Given the description of an element on the screen output the (x, y) to click on. 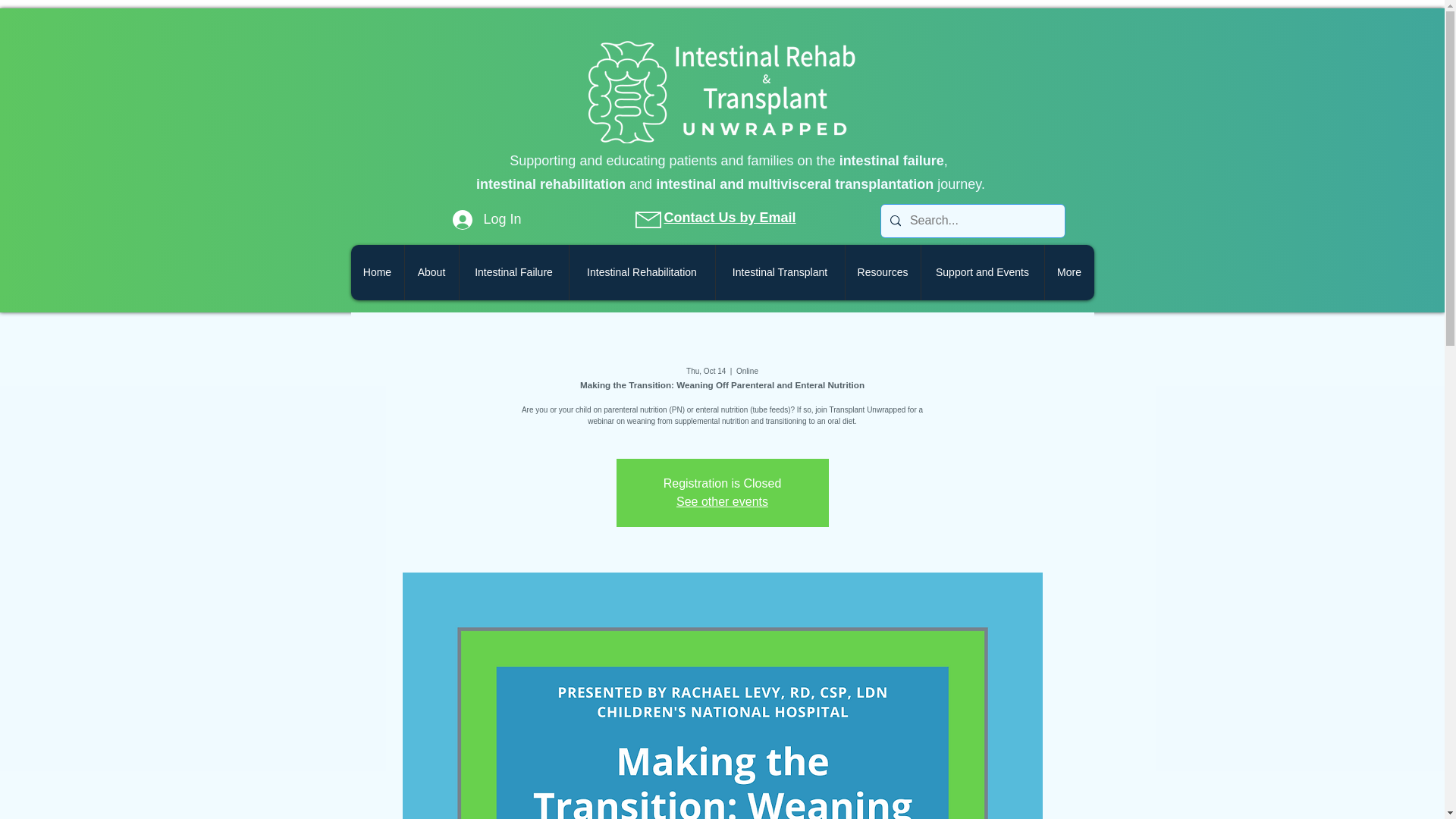
Home (376, 272)
Log In (486, 219)
Contact Us by Email (729, 217)
